Given the description of an element on the screen output the (x, y) to click on. 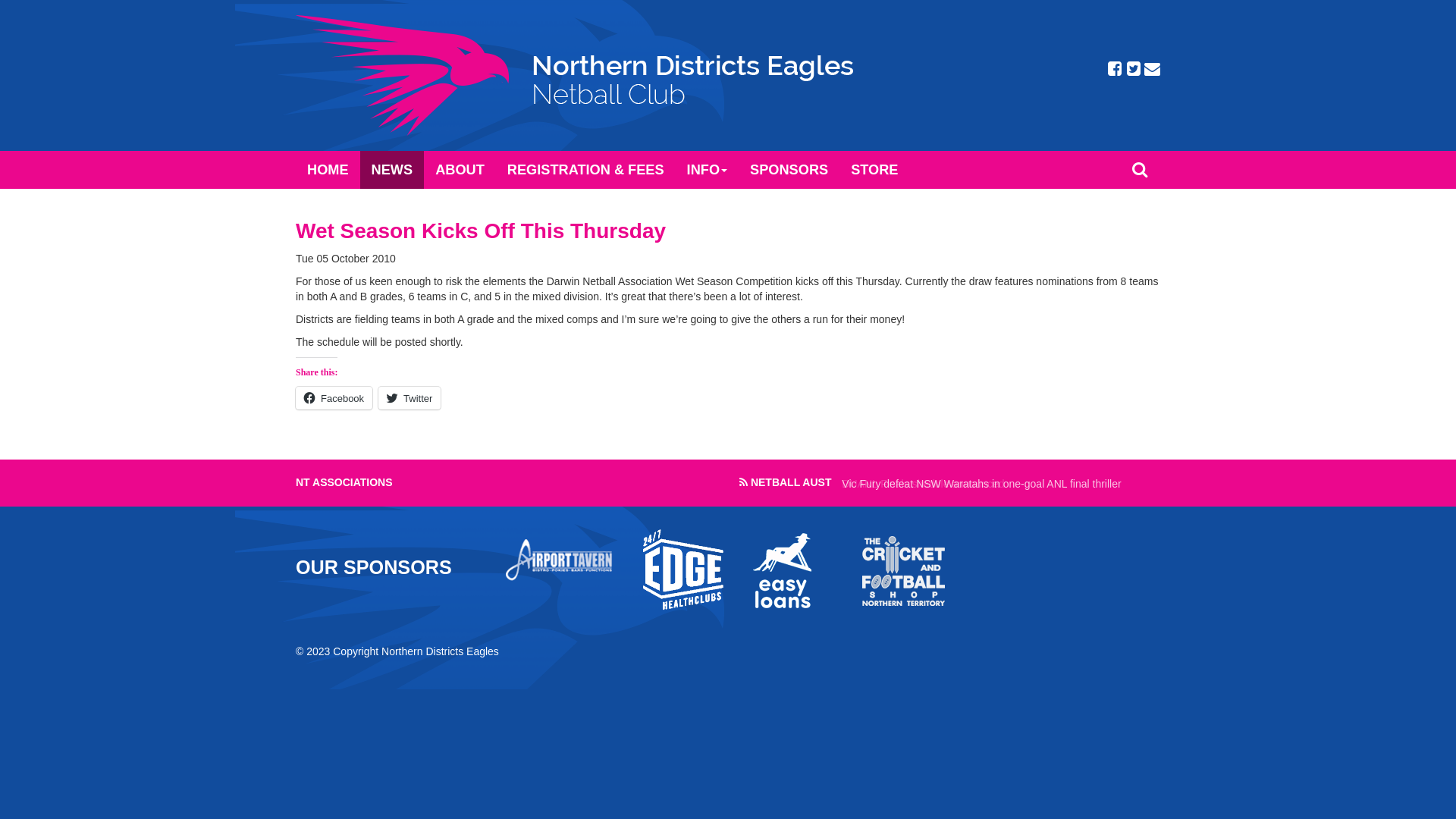
HOME Element type: text (327, 169)
Facebook Element type: text (333, 397)
SPONSORS Element type: text (788, 169)
Northern Districts Eagles Element type: hover (574, 75)
REGISTRATION & FEES Element type: text (585, 169)
Twitter Element type: hover (1133, 69)
ABOUT Element type: text (459, 169)
INFO Element type: text (706, 169)
NEWS Element type: text (392, 169)
STORE Element type: text (874, 169)
Twitter Element type: text (409, 397)
NETBALL AUST Element type: text (790, 482)
DUANL Finals shedule announced Element type: text (922, 483)
contact@districts.darwinnetball.org.au Element type: hover (1152, 69)
Facebook Element type: hover (1114, 69)
